Given the description of an element on the screen output the (x, y) to click on. 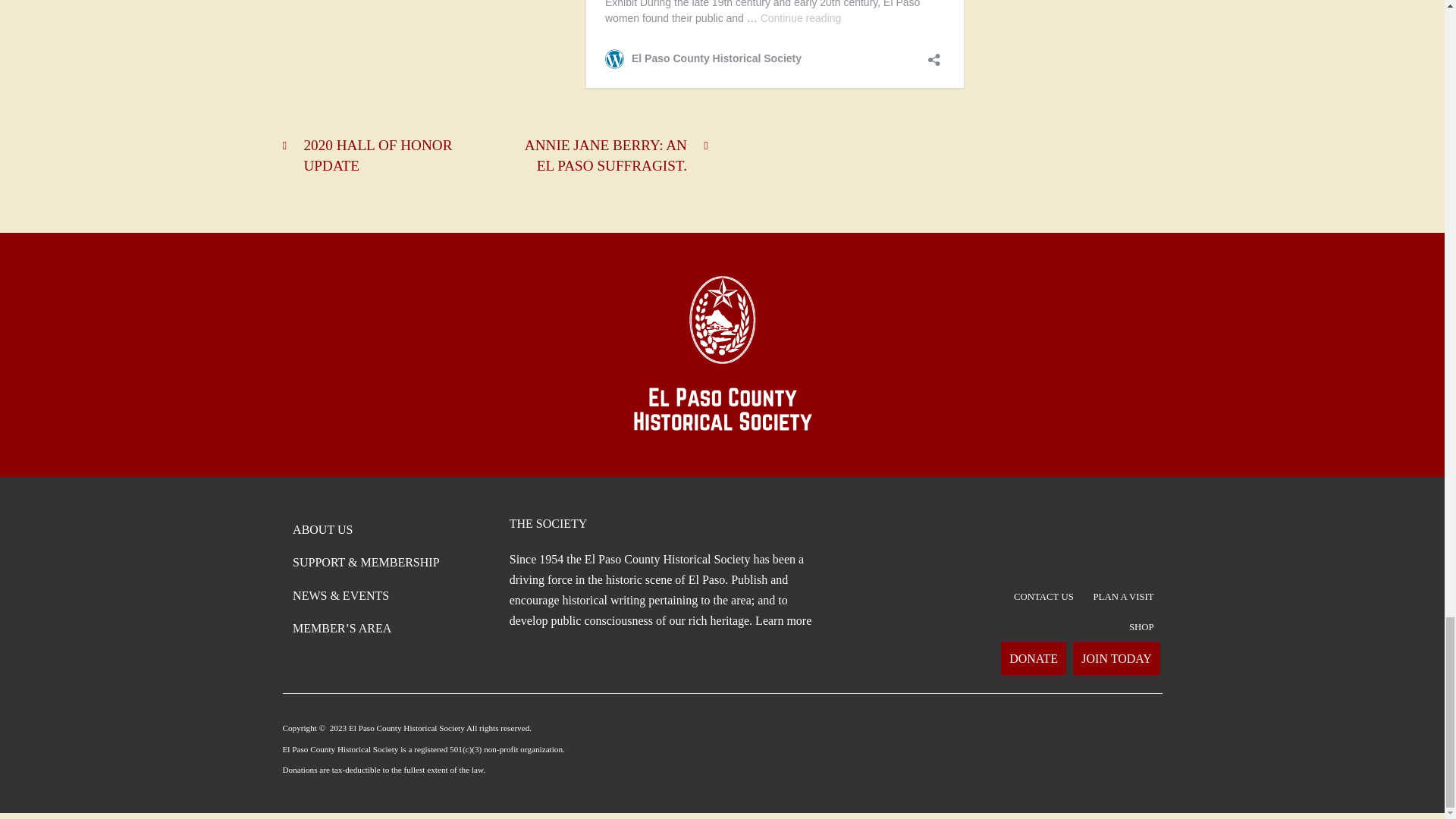
2020 HALL OF HONOR UPDATE (381, 155)
ANNIE JANE BERRY: AN EL PASO SUFFRAGIST. (607, 155)
ABOUT US (322, 529)
